Given the description of an element on the screen output the (x, y) to click on. 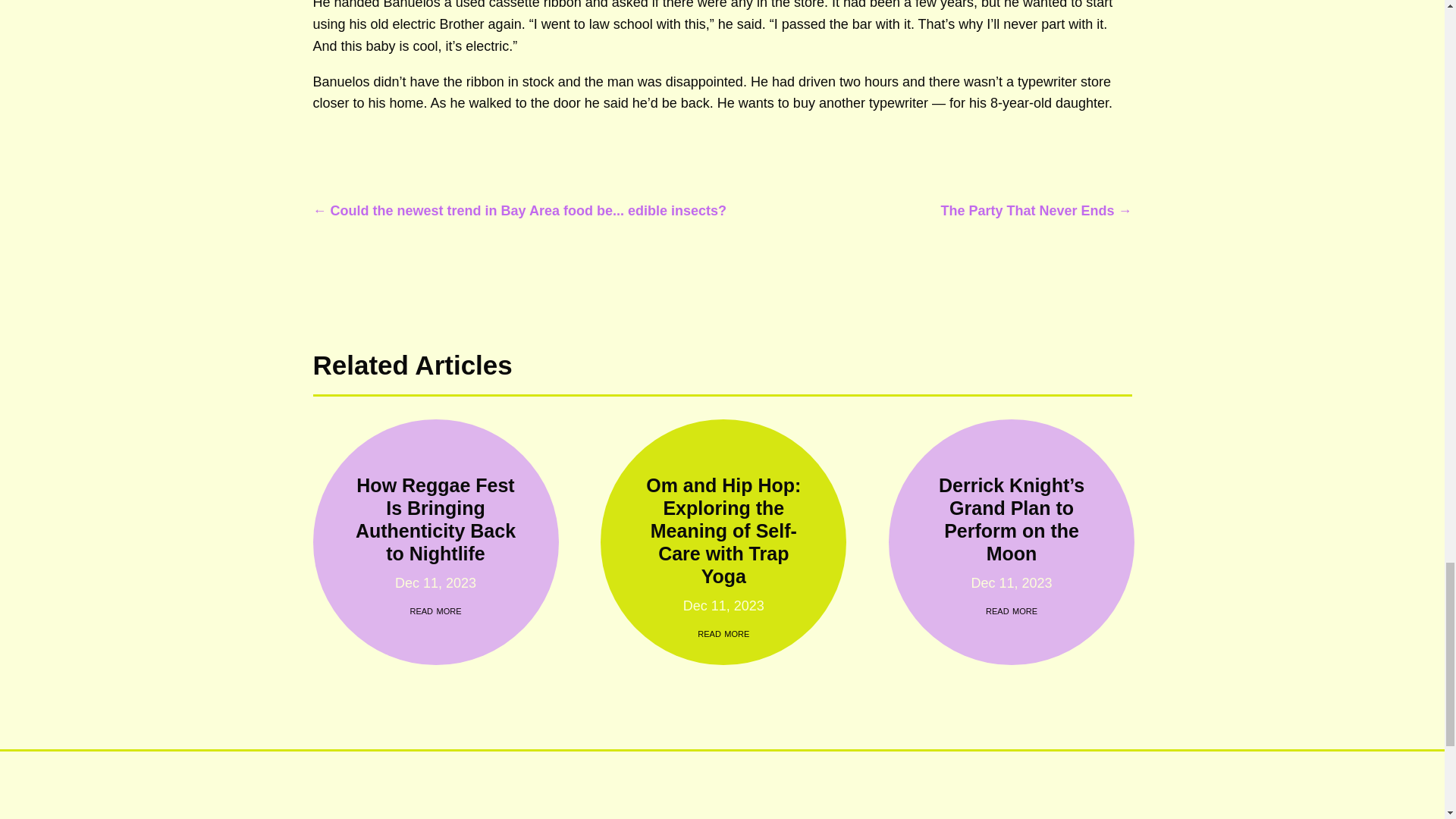
read more (435, 609)
read more (1010, 609)
read more (723, 632)
How Reggae Fest Is Bringing Authenticity Back to Nightlife (435, 519)
